Given the description of an element on the screen output the (x, y) to click on. 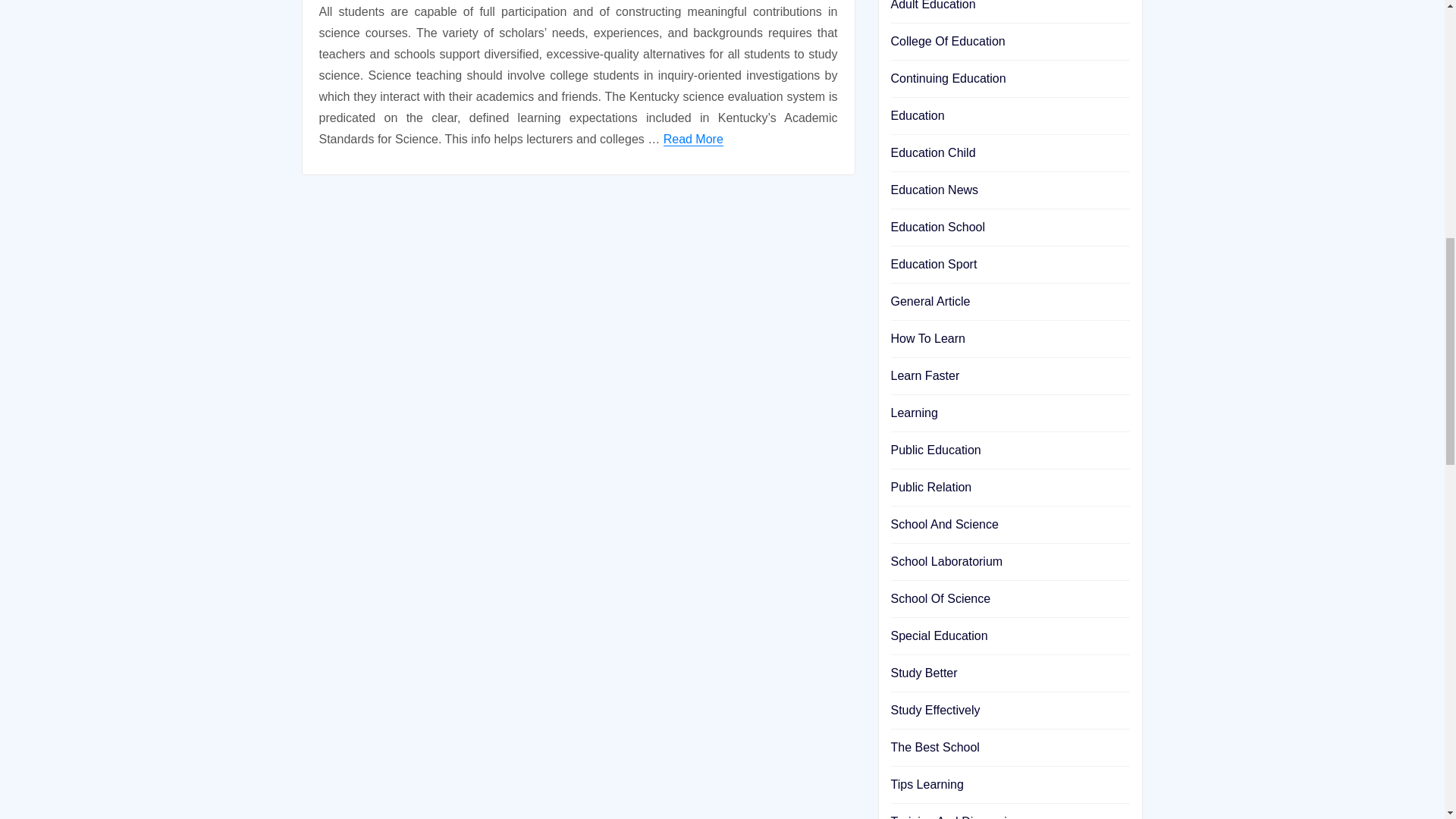
Education Child (932, 152)
Read More (693, 138)
General Article (929, 300)
Education Sport (932, 264)
Continuing Education (947, 78)
Adult Education (932, 5)
Education (916, 115)
Education School (937, 226)
Education News (933, 189)
College Of Education (946, 41)
